Given the description of an element on the screen output the (x, y) to click on. 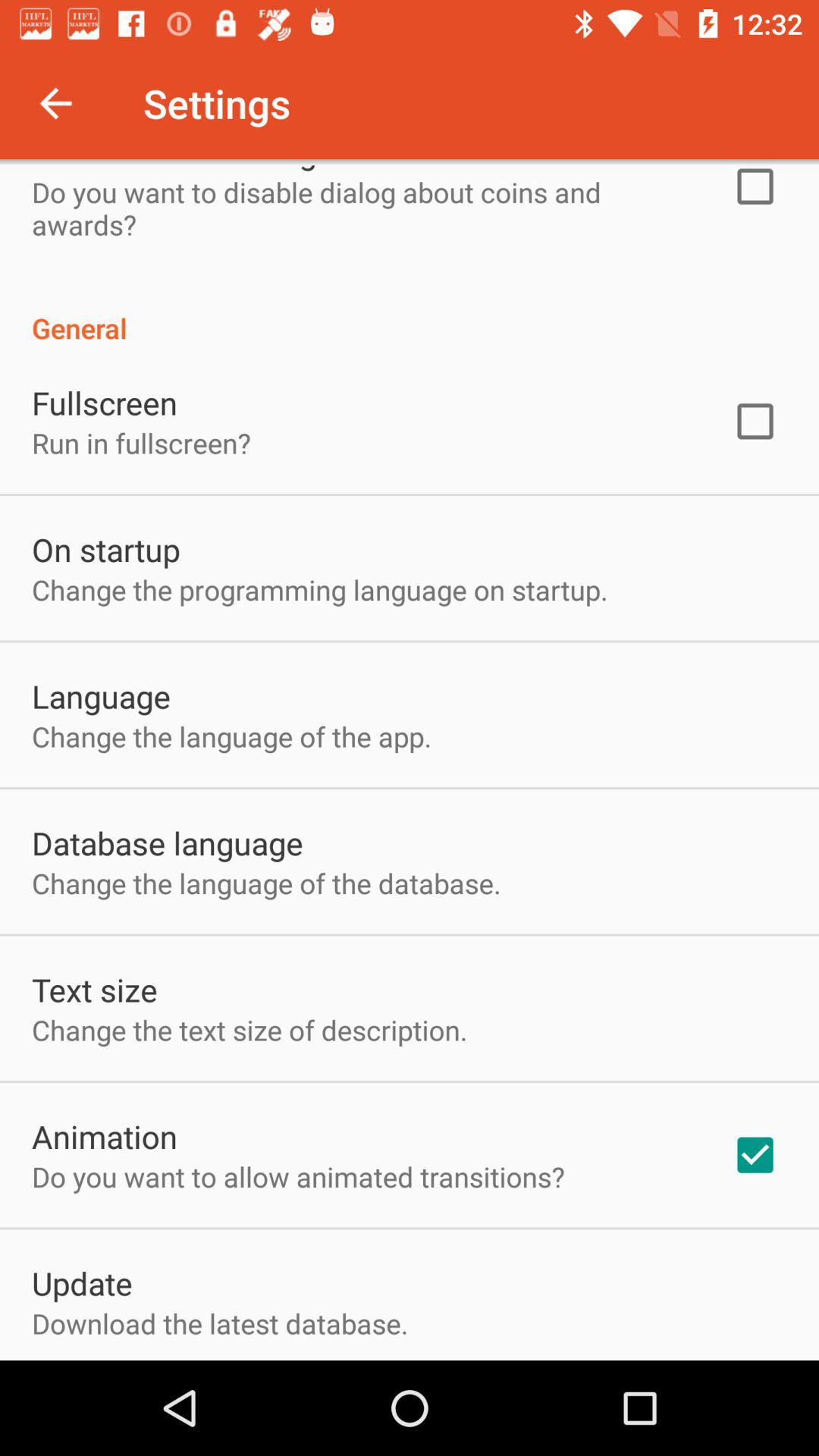
turn off item below update (219, 1323)
